Given the description of an element on the screen output the (x, y) to click on. 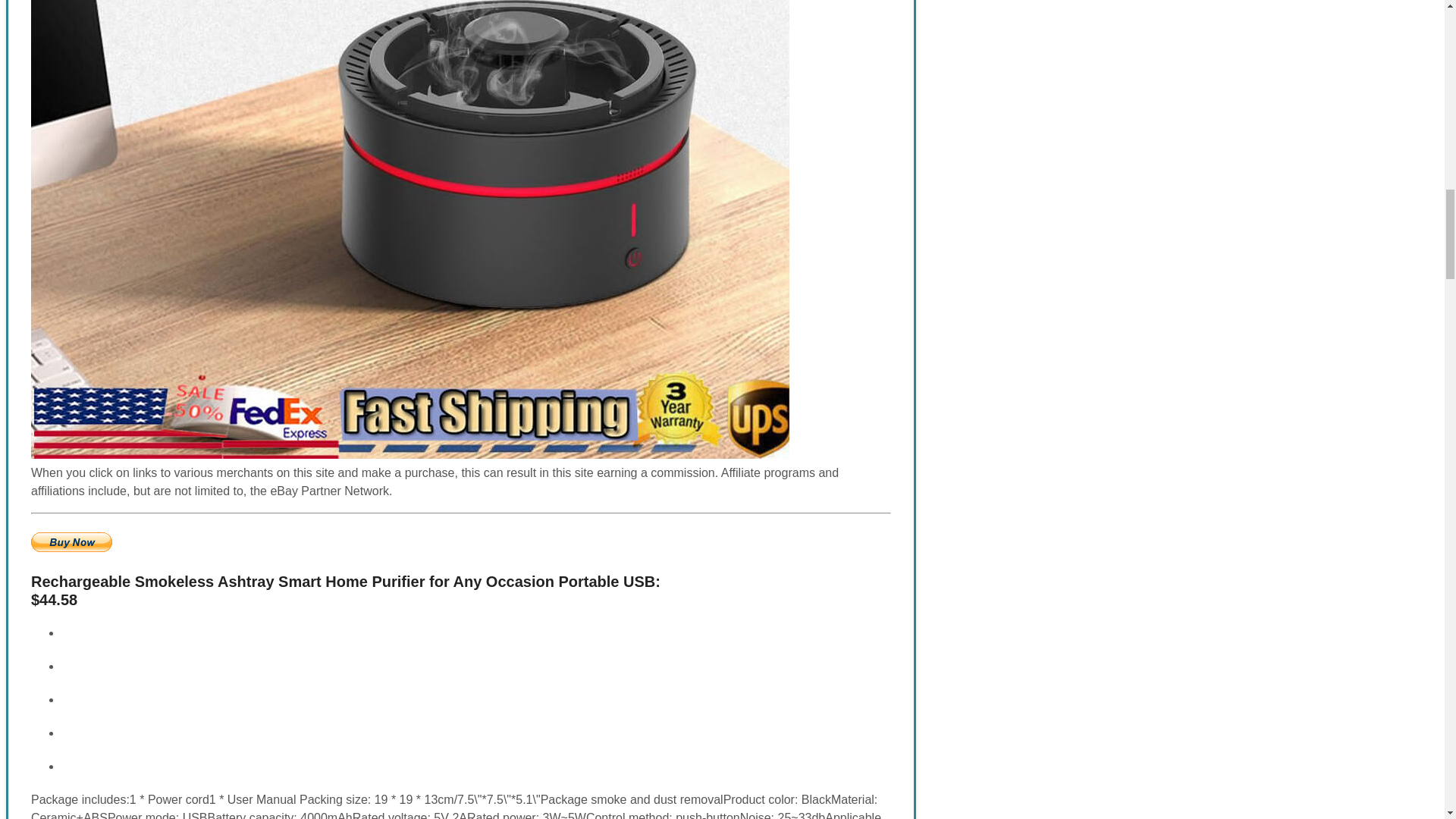
Buy Now (71, 542)
